Given the description of an element on the screen output the (x, y) to click on. 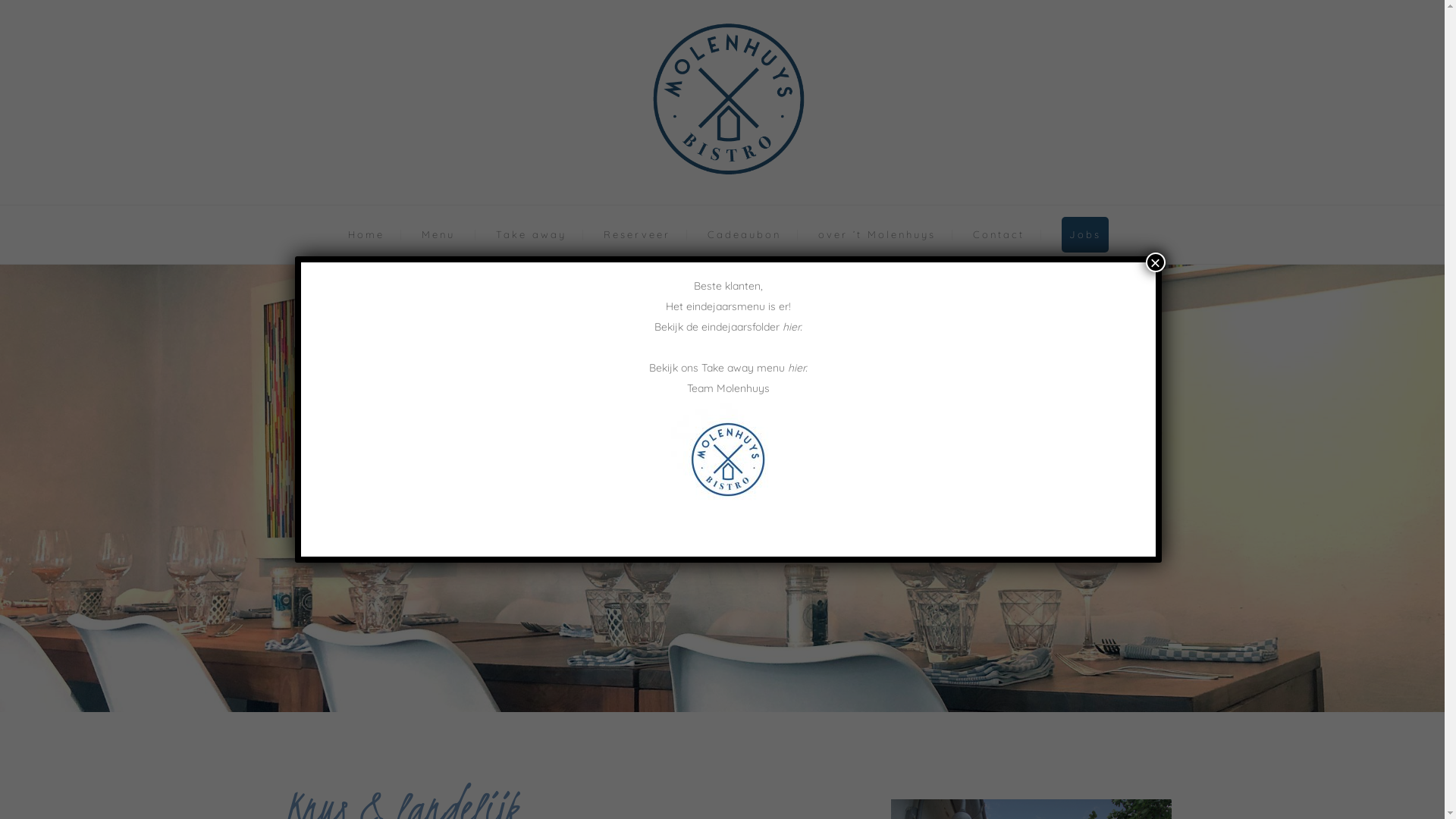
Cadeaubon Element type: text (743, 234)
Take away Element type: text (530, 234)
Contact Element type: text (997, 234)
hier. Element type: text (792, 326)
Reserveer Element type: text (636, 234)
Jobs Element type: text (1085, 234)
hier. Element type: text (796, 367)
Home Element type: text (365, 234)
Menu Element type: text (438, 234)
